Given the description of an element on the screen output the (x, y) to click on. 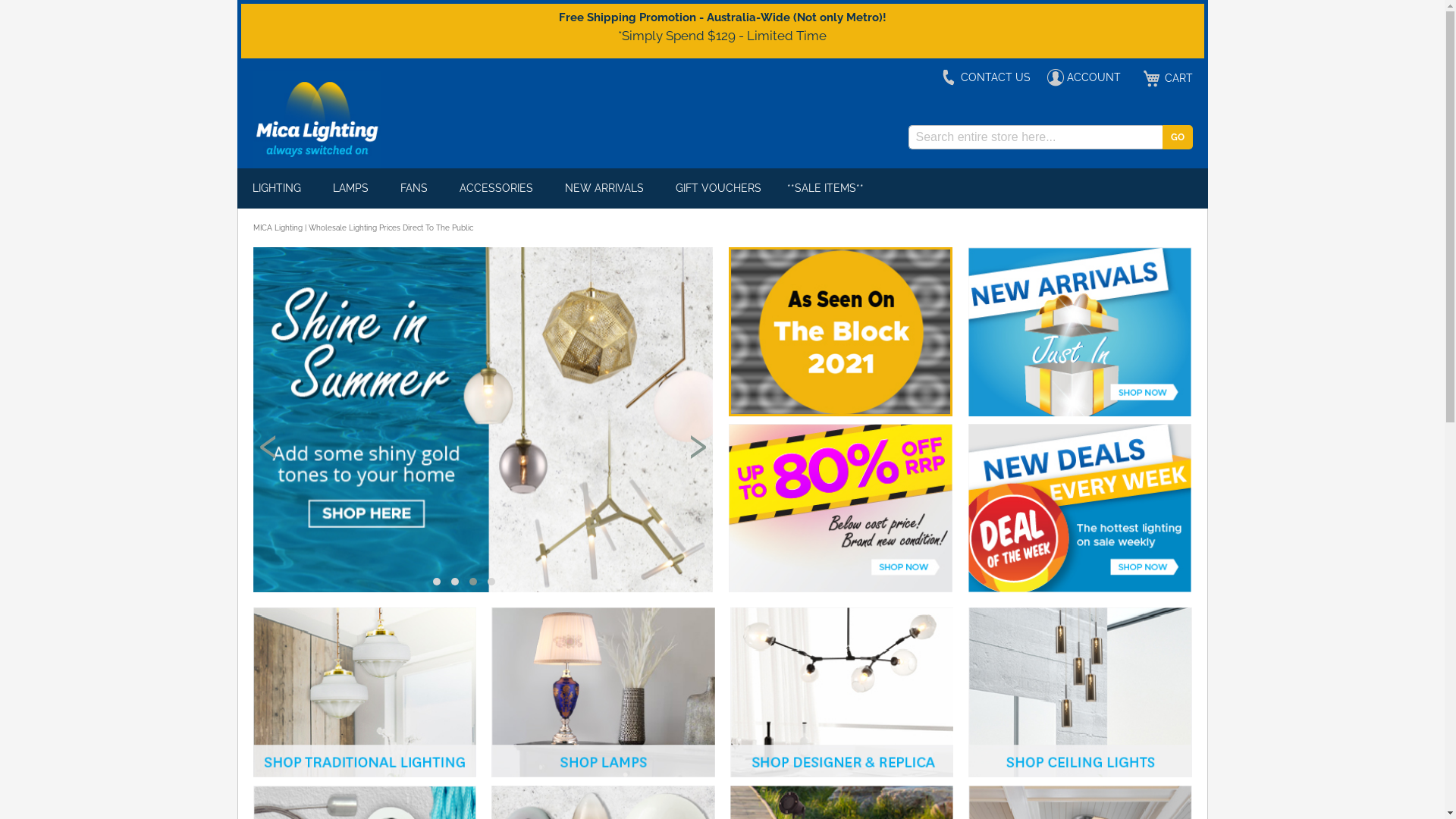
Clearance Element type: hover (840, 508)
NEW ARRIVALS Element type: text (606, 188)
Designer Replica Lighting Element type: hover (841, 694)
Ceiling Lights Element type: hover (1080, 694)
FANS Element type: text (416, 188)
**SALE ITEMS** Element type: text (825, 188)
New Arrivals Element type: hover (1080, 331)
New Arrivals Element type: hover (1080, 412)
ACCESSORIES Element type: text (499, 188)
CONTACT US Element type: text (985, 77)
Clearance Element type: hover (840, 588)
Deal of the Week Element type: hover (1080, 588)
LAMPS Element type: text (352, 188)
CART Element type: text (1164, 78)
Traditional Period Lighting Element type: hover (364, 694)
GIFT VOUCHERS Element type: text (717, 188)
LIGHTING Element type: text (278, 188)
As Seen On The Block 2021 - MICA Lighting Element type: hover (840, 331)
Deal of the Week Element type: hover (1080, 508)
As Seen On The Block 2021 - MICA Lighting Element type: hover (840, 412)
Lamps Element type: hover (603, 694)
Search Element type: text (1176, 137)
*Simply Spend $129 - Limited Time Element type: text (722, 34)
